Given the description of an element on the screen output the (x, y) to click on. 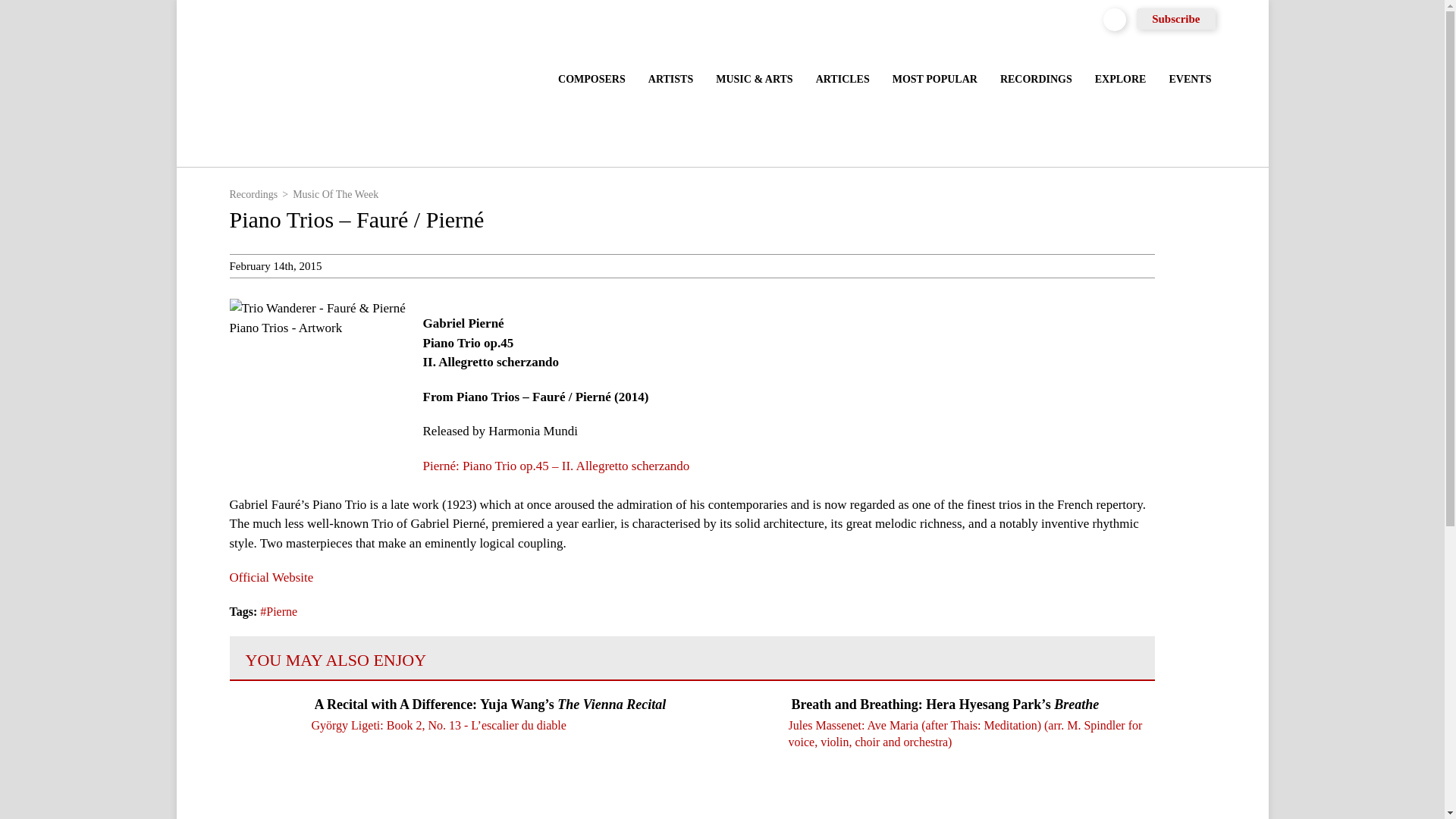
Share this Entry on Facebook (1182, 265)
Display Search Form (1114, 18)
Subscribe (1175, 18)
